Given the description of an element on the screen output the (x, y) to click on. 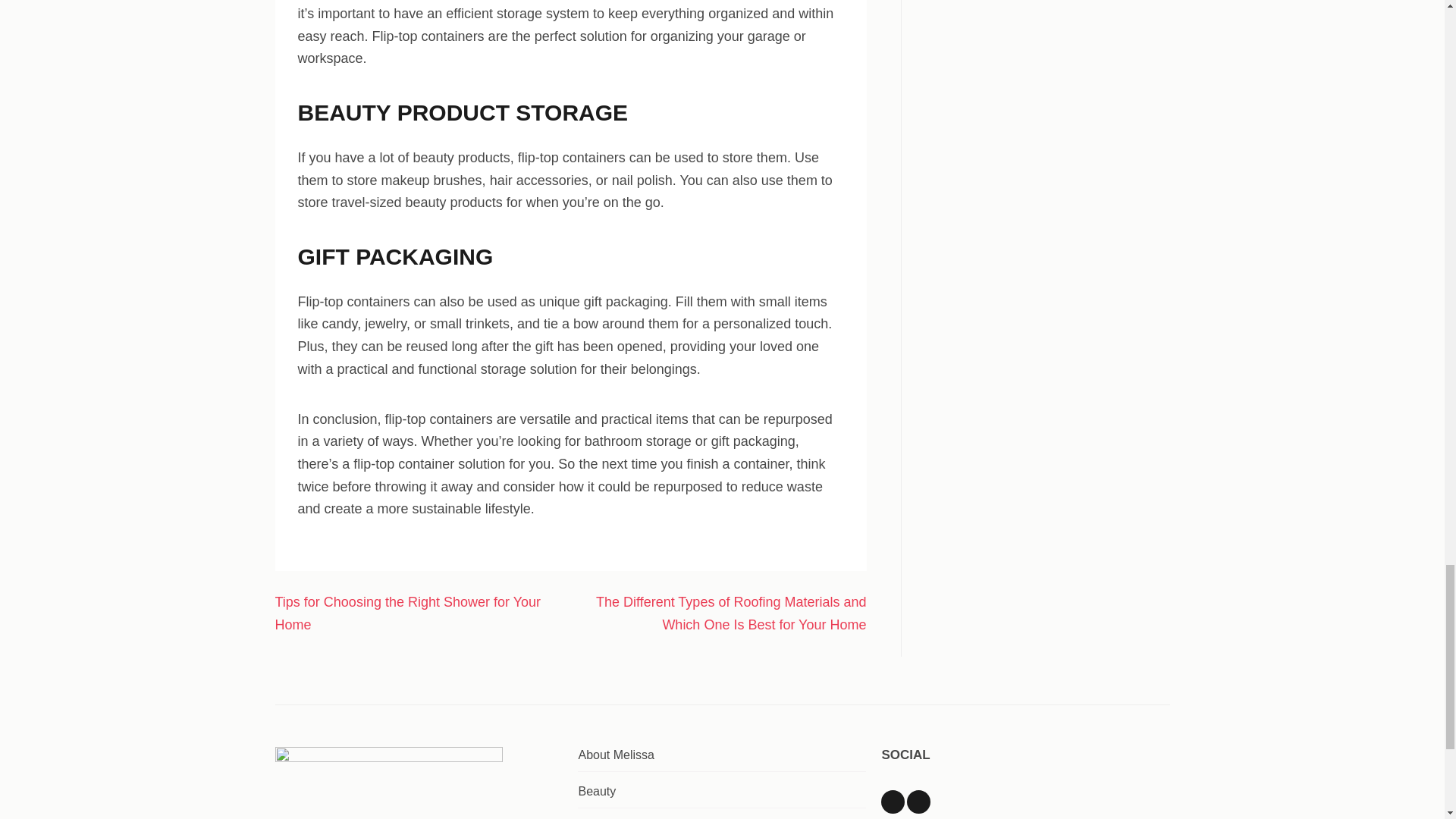
About Melissa (615, 754)
Facebook (892, 802)
Tips for Choosing the Right Shower for Your Home (407, 613)
Twitter (918, 802)
